Given the description of an element on the screen output the (x, y) to click on. 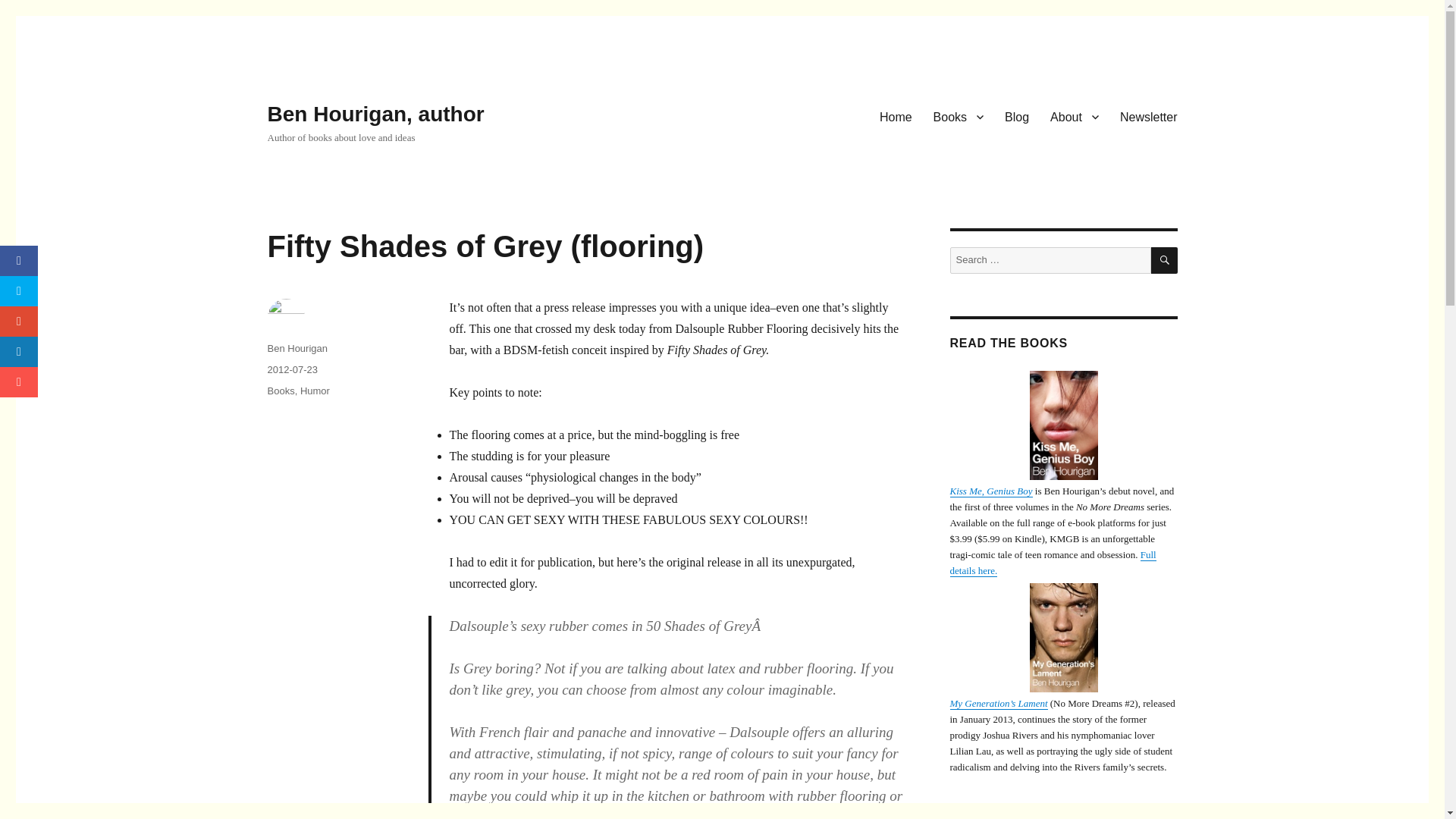
Kiss Me, Genius Boy (990, 490)
Humor (314, 390)
Home (896, 116)
Newsletter (1148, 116)
Books (958, 116)
Books (280, 390)
Full details here. (1052, 562)
Ben Hourigan (296, 348)
Blog (1016, 116)
Ben Hourigan, author (374, 114)
